Given the description of an element on the screen output the (x, y) to click on. 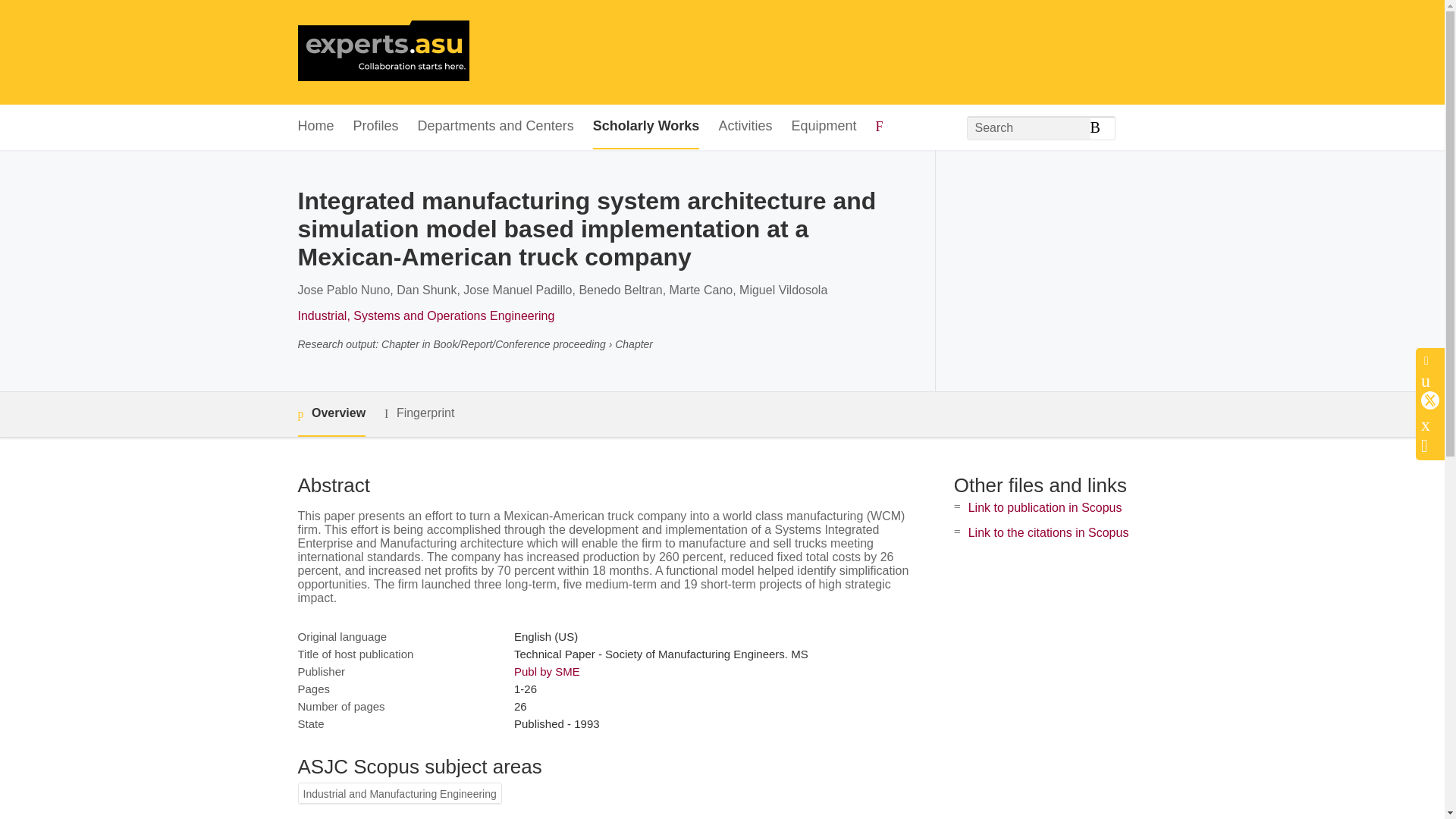
Fingerprint (419, 413)
Link to the citations in Scopus (1048, 532)
Departments and Centers (495, 126)
Scholarly Works (646, 126)
Industrial, Systems and Operations Engineering (425, 315)
Equipment (823, 126)
Overview (331, 414)
Profiles (375, 126)
Link to publication in Scopus (1045, 507)
